Given the description of an element on the screen output the (x, y) to click on. 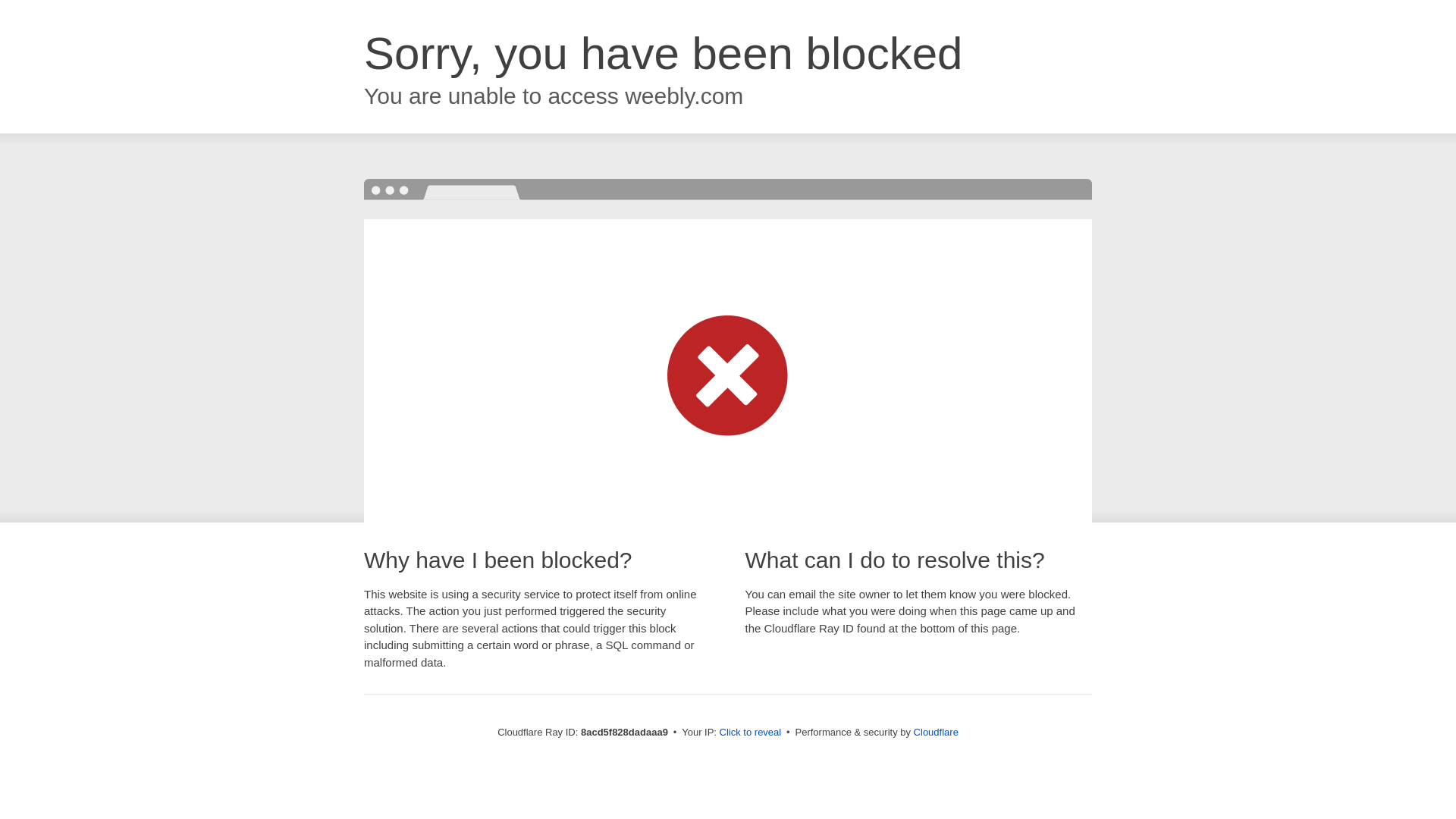
Click to reveal (750, 732)
Cloudflare (936, 731)
